Given the description of an element on the screen output the (x, y) to click on. 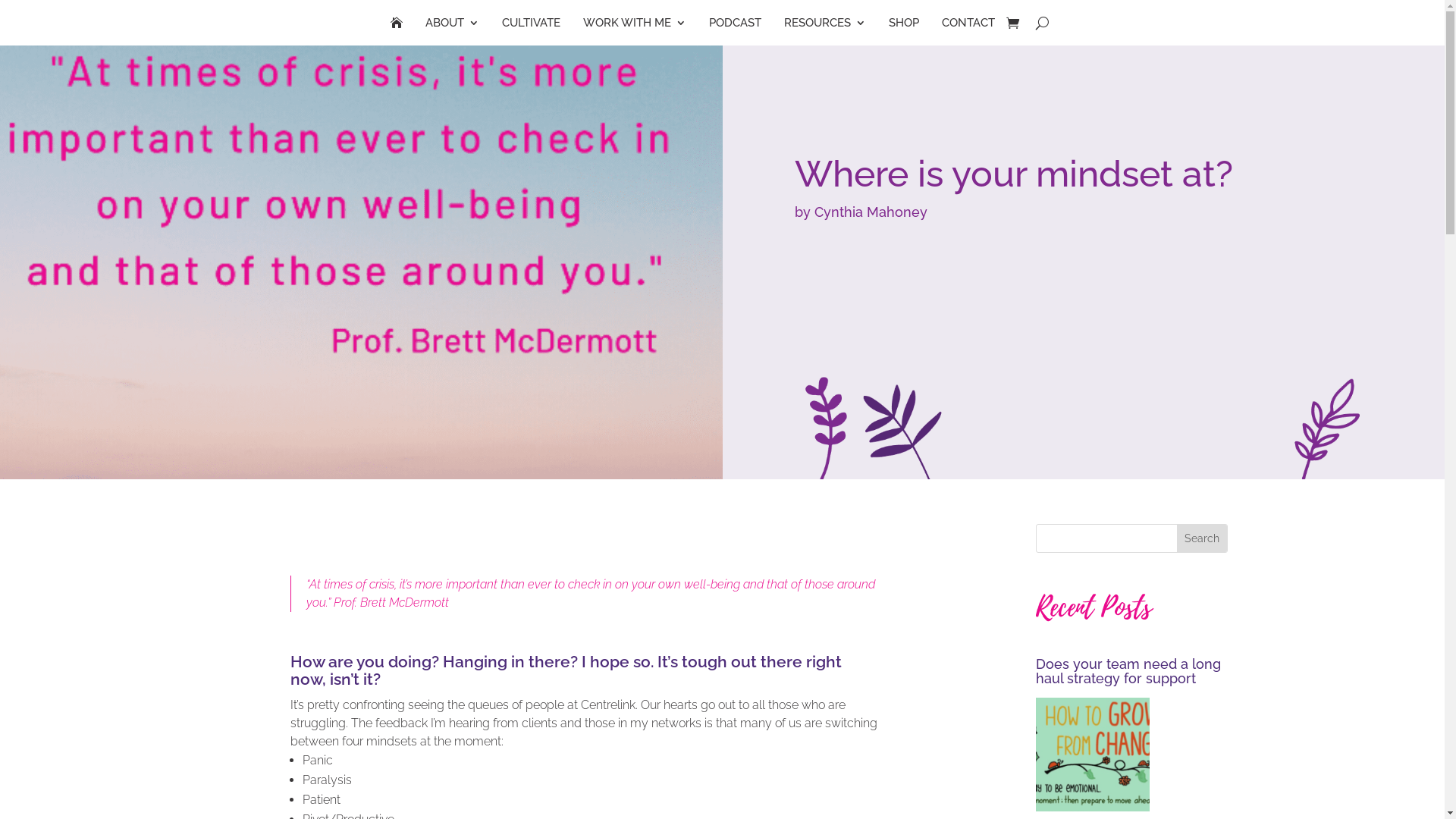
ABOUT Element type: text (452, 25)
CULTIVATE Element type: text (531, 25)
SHOP Element type: text (903, 25)
RESOURCES Element type: text (825, 25)
PODCAST Element type: text (735, 25)
Cynthia Mahoney Element type: text (870, 211)
Does your team need a long haul strategy for support Element type: text (1131, 735)
CONTACT Element type: text (967, 25)
WORK WITH ME Element type: text (634, 25)
Search Element type: text (1201, 538)
Untitled design Element type: hover (361, 262)
